Given the description of an element on the screen output the (x, y) to click on. 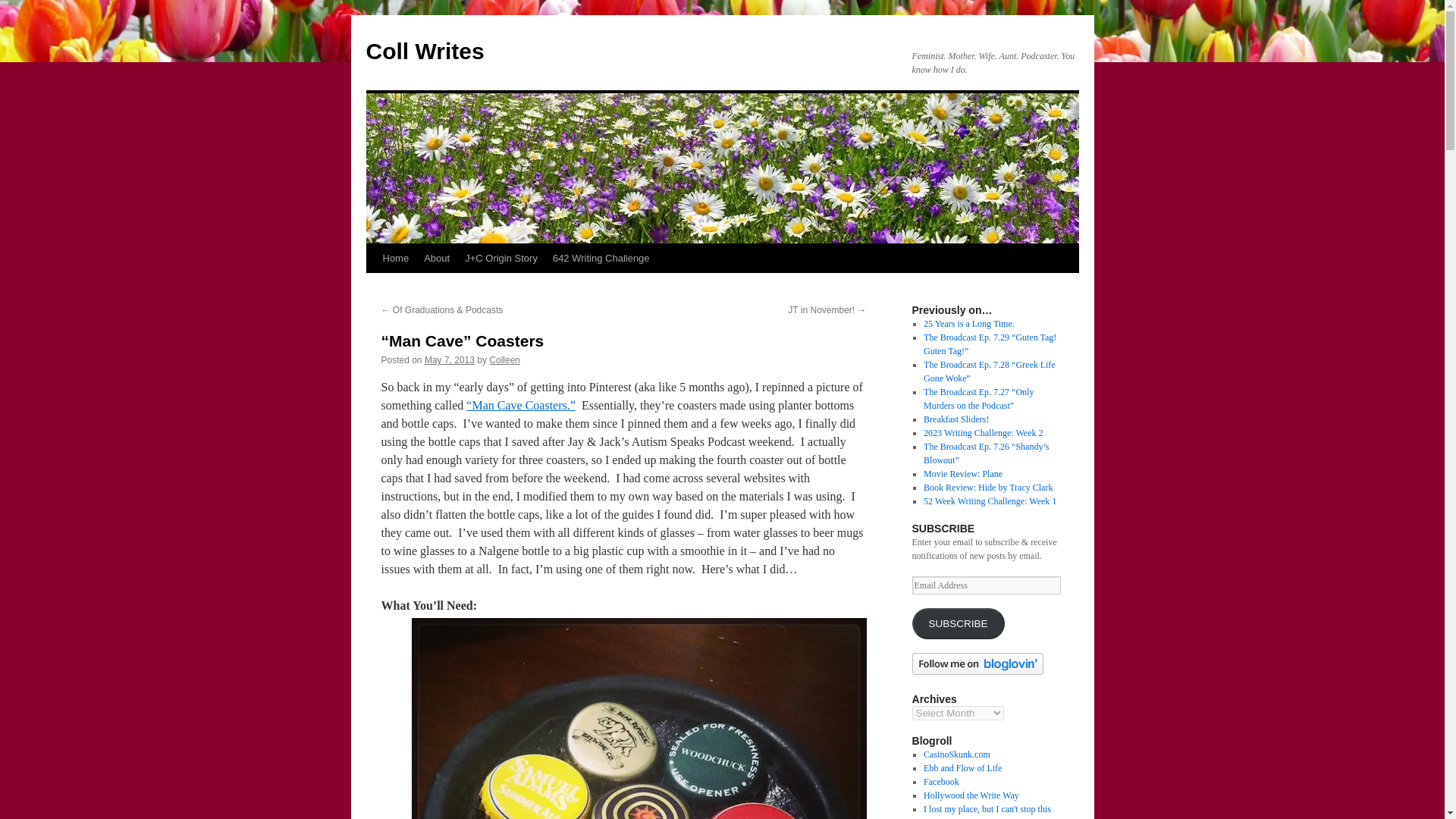
Colleen (504, 359)
642 Writing Challenge (601, 258)
View all posts by Colleen (504, 359)
Home (395, 258)
Coll Writes (424, 50)
About (436, 258)
May 7, 2013 (449, 359)
Follow Coll Writes on Bloglovin (976, 671)
9:00 am (449, 359)
